Given the description of an element on the screen output the (x, y) to click on. 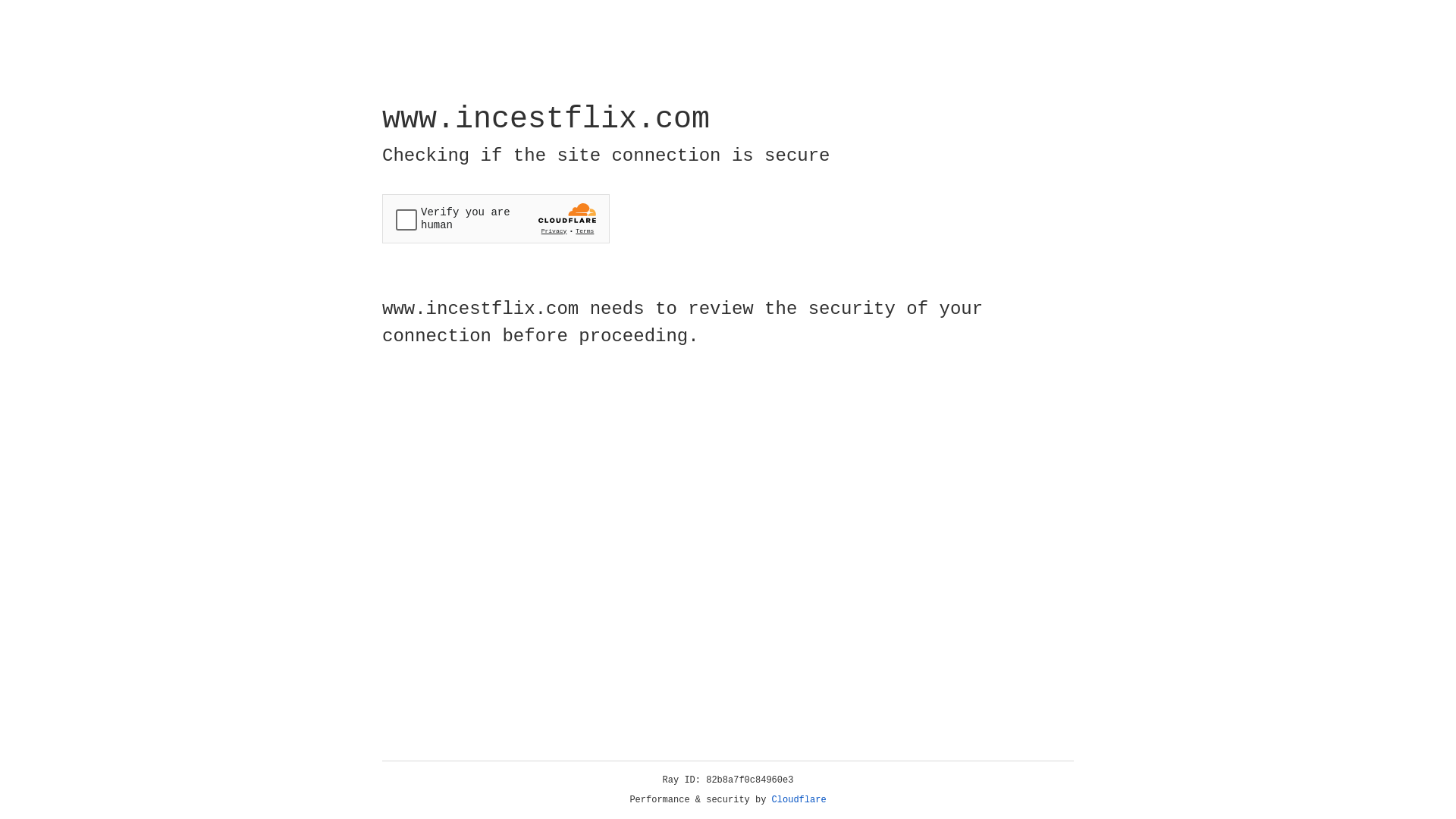
Cloudflare Element type: text (798, 799)
Widget containing a Cloudflare security challenge Element type: hover (495, 218)
